Given the description of an element on the screen output the (x, y) to click on. 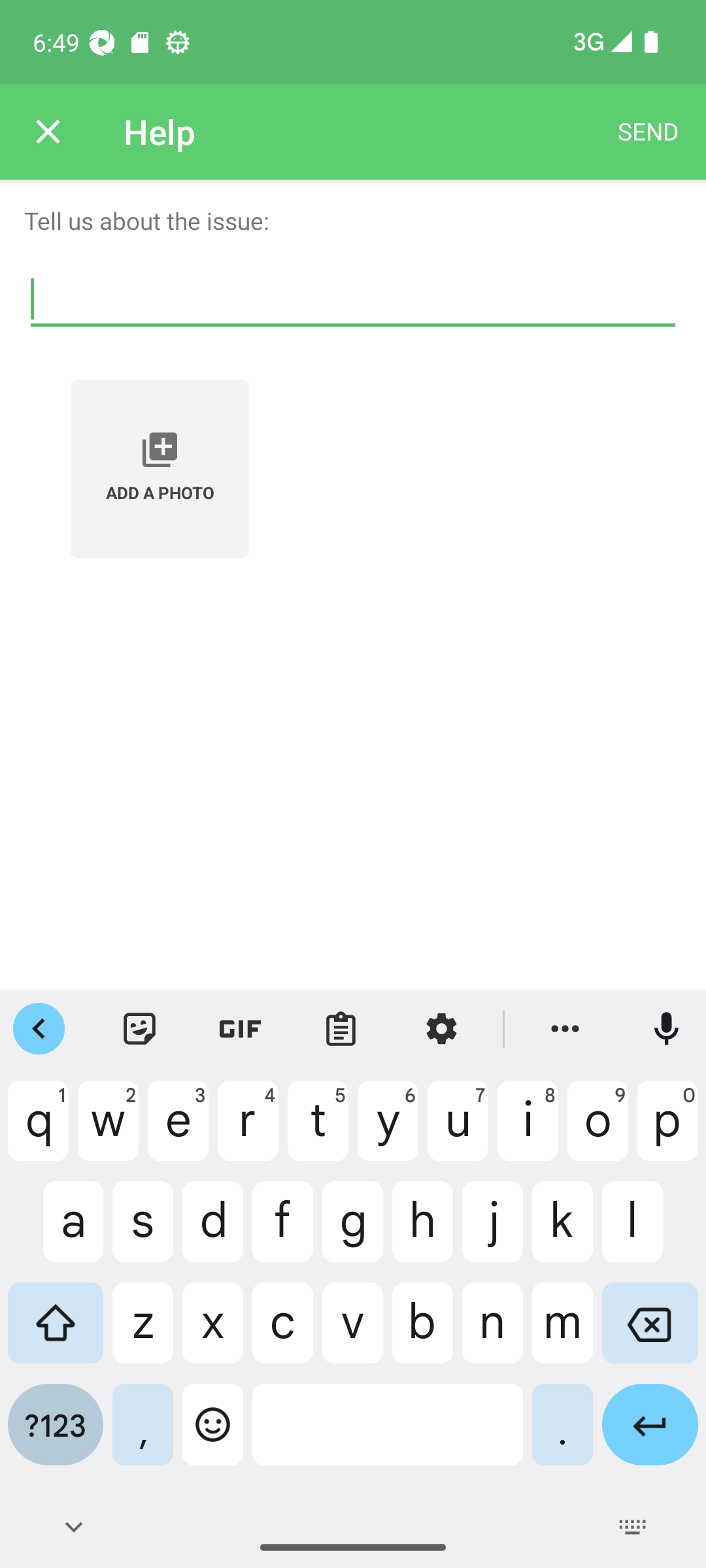
Navigate up (48, 131)
SEND (647, 131)
ADD A PHOTO (159, 468)
